Given the description of an element on the screen output the (x, y) to click on. 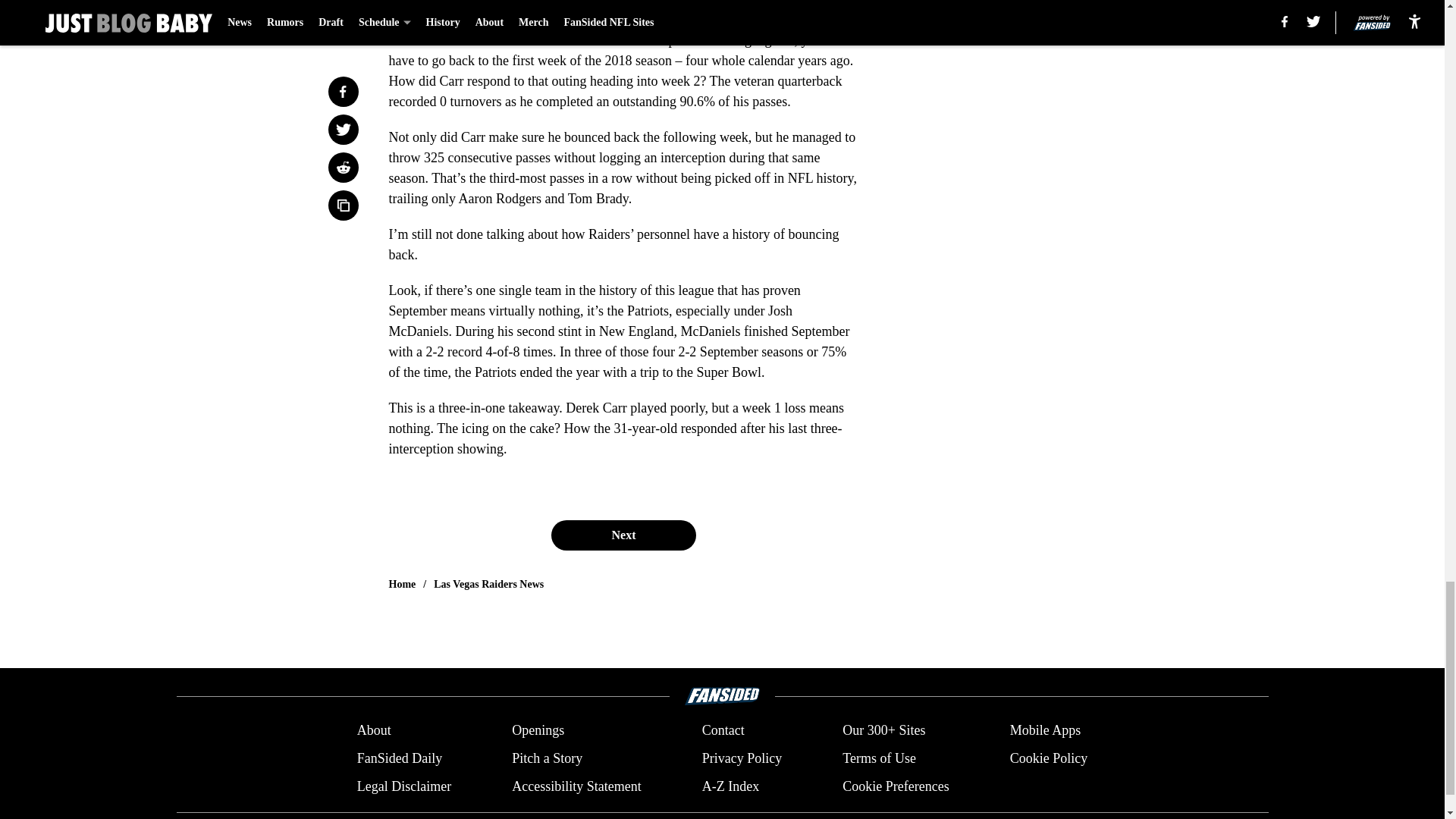
Pitch a Story (547, 758)
Mobile Apps (1045, 730)
Privacy Policy (742, 758)
Terms of Use (879, 758)
Openings (538, 730)
A-Z Index (729, 786)
FanSided Daily (399, 758)
Legal Disclaimer (403, 786)
Cookie Policy (1048, 758)
Las Vegas Raiders News (488, 584)
